Given the description of an element on the screen output the (x, y) to click on. 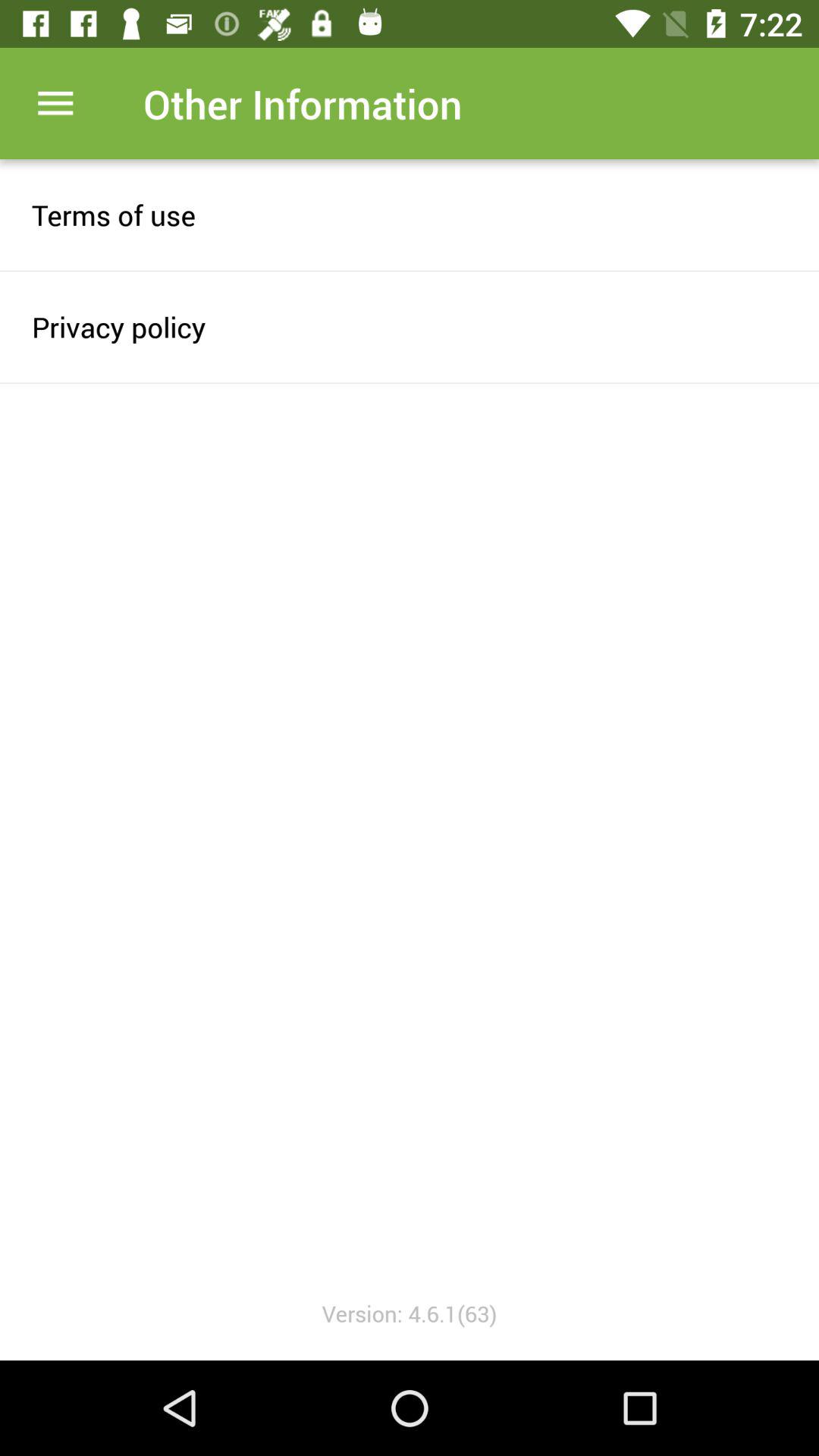
drop menu (55, 103)
